Given the description of an element on the screen output the (x, y) to click on. 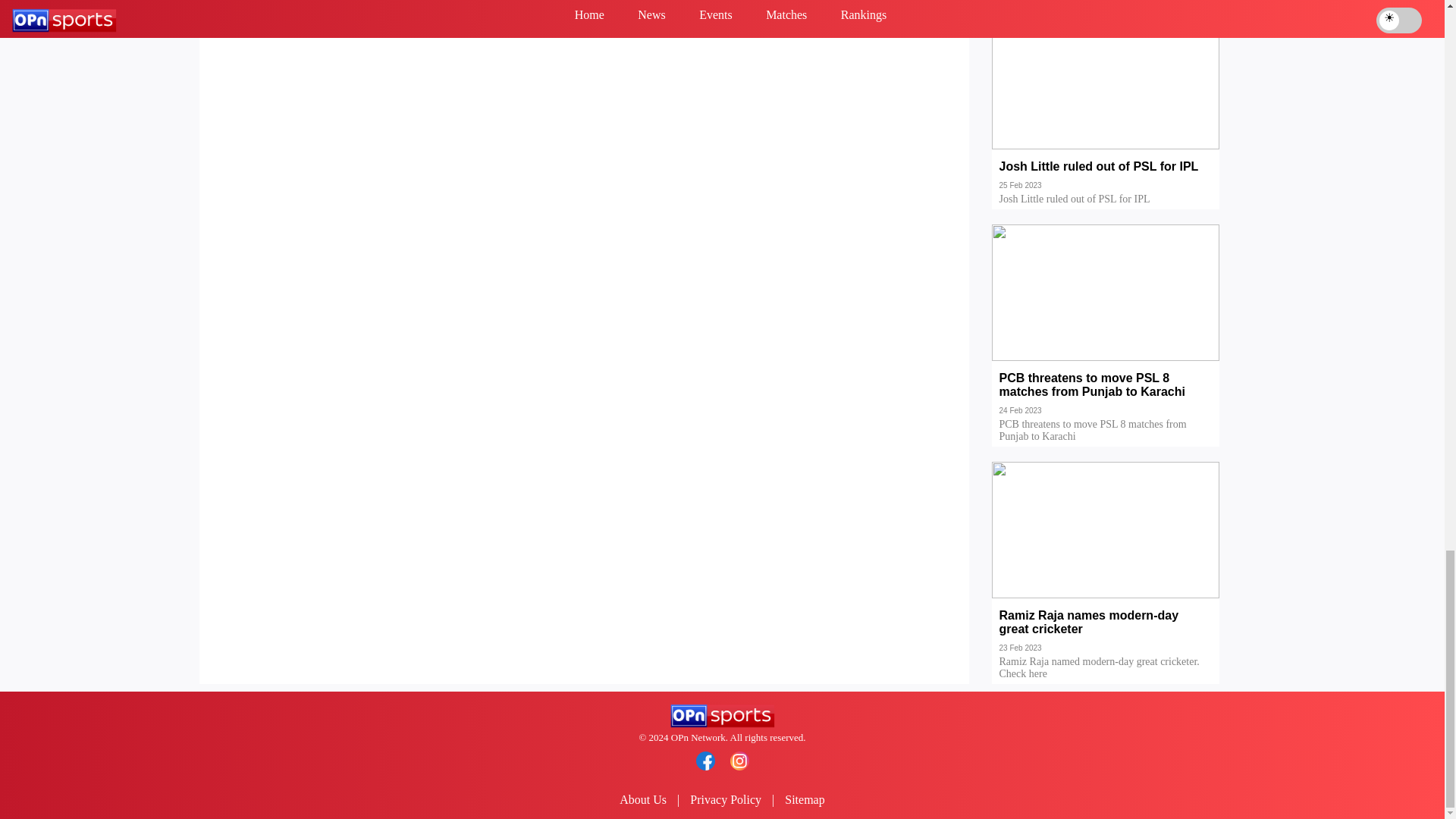
Sitemap (804, 799)
Ramiz Raja names modern-day great cricketer (1105, 633)
Privacy Policy (725, 799)
Josh Little ruled out of PSL for IPL (1105, 176)
PCB threatens to move PSL 8 matches from Punjab to Karachi (1105, 395)
About Us (643, 799)
